Given the description of an element on the screen output the (x, y) to click on. 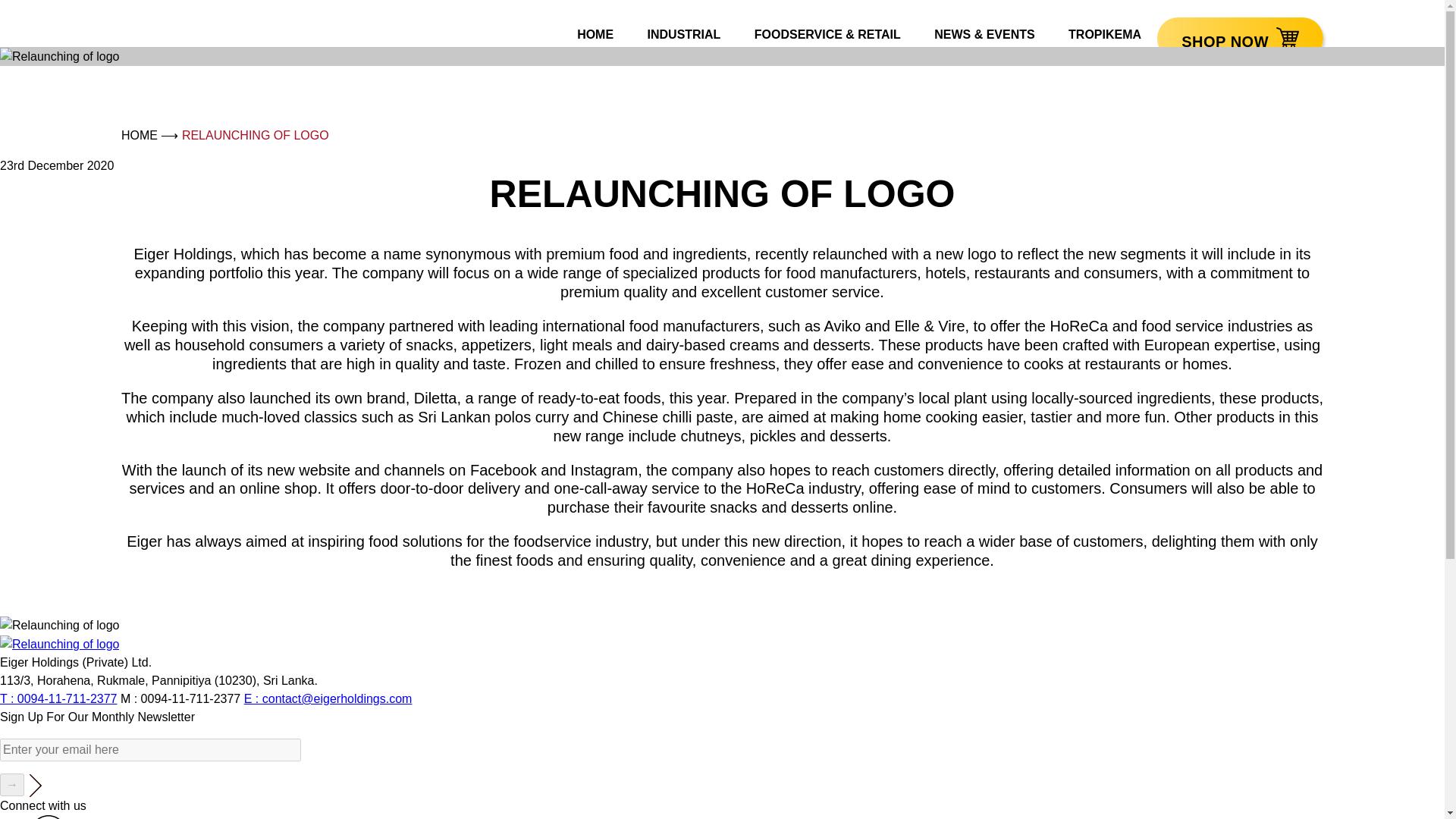
SHOP NOW (1240, 37)
INDUSTRIAL (683, 34)
HOME (138, 134)
Home (138, 134)
T : 0094-11-711-2377 (58, 698)
TROPIKEMA (1104, 34)
HOME (595, 34)
